Given the description of an element on the screen output the (x, y) to click on. 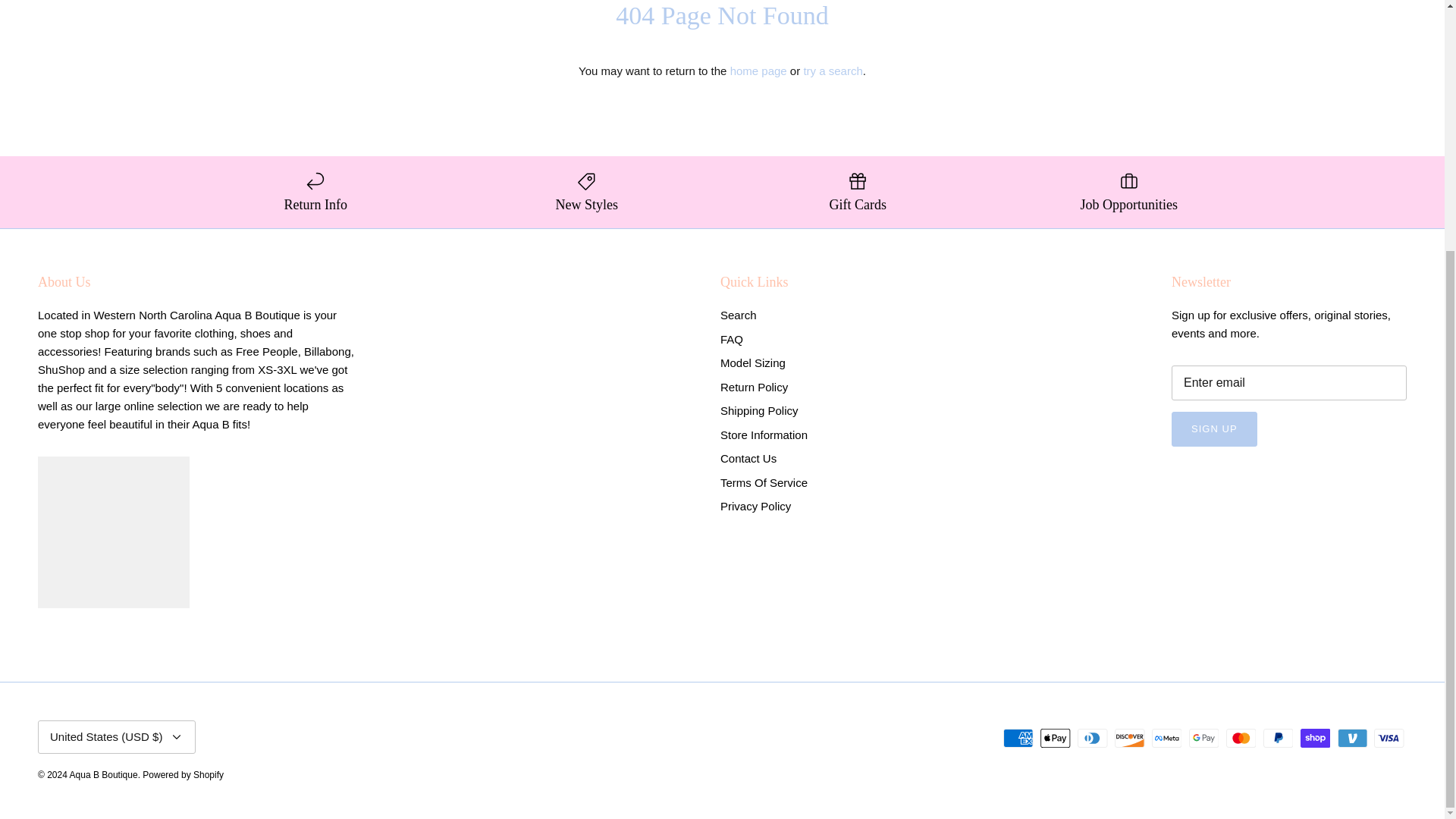
Google Pay (1203, 737)
American Express (1018, 737)
Venmo (1352, 737)
PayPal (1277, 737)
Shop Pay (1315, 737)
Mastercard (1240, 737)
Discover (1129, 737)
Visa (1388, 737)
Diners Club (1092, 737)
Apple Pay (1055, 737)
Down (176, 736)
Meta Pay (1166, 737)
